Given the description of an element on the screen output the (x, y) to click on. 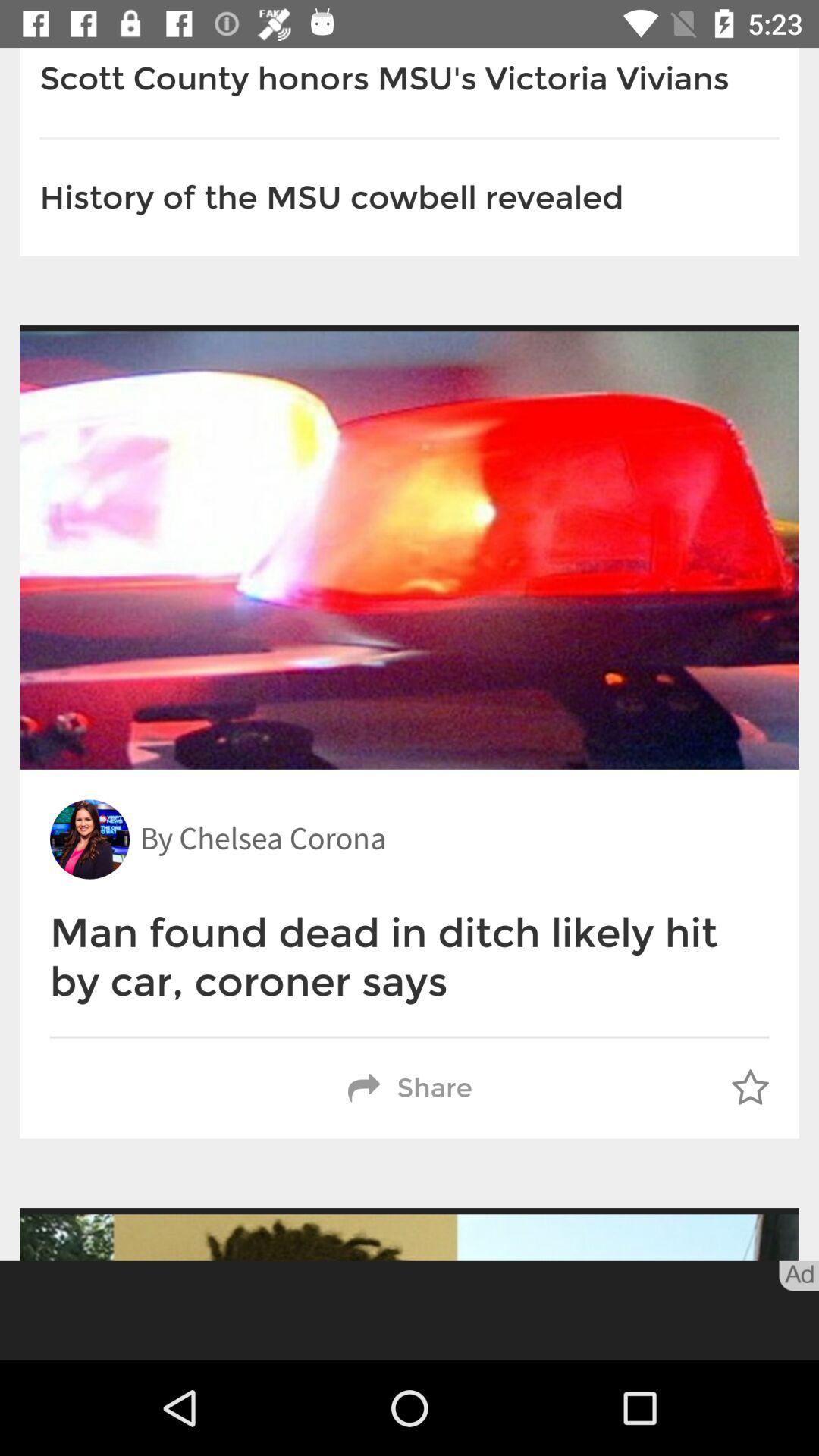
press the item next to share (750, 1088)
